Given the description of an element on the screen output the (x, y) to click on. 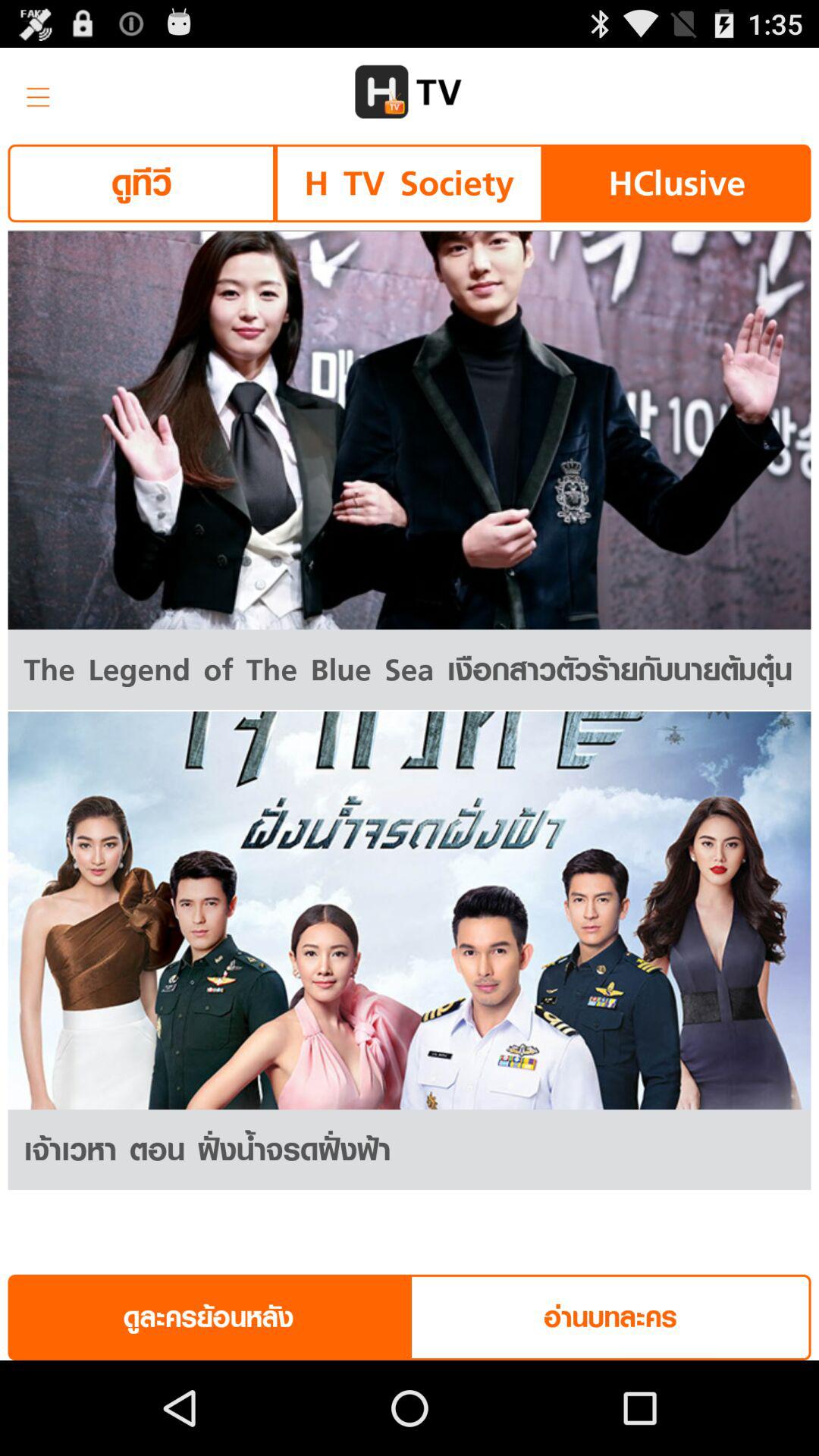
select the button to the right of the h tv society (677, 183)
